Given the description of an element on the screen output the (x, y) to click on. 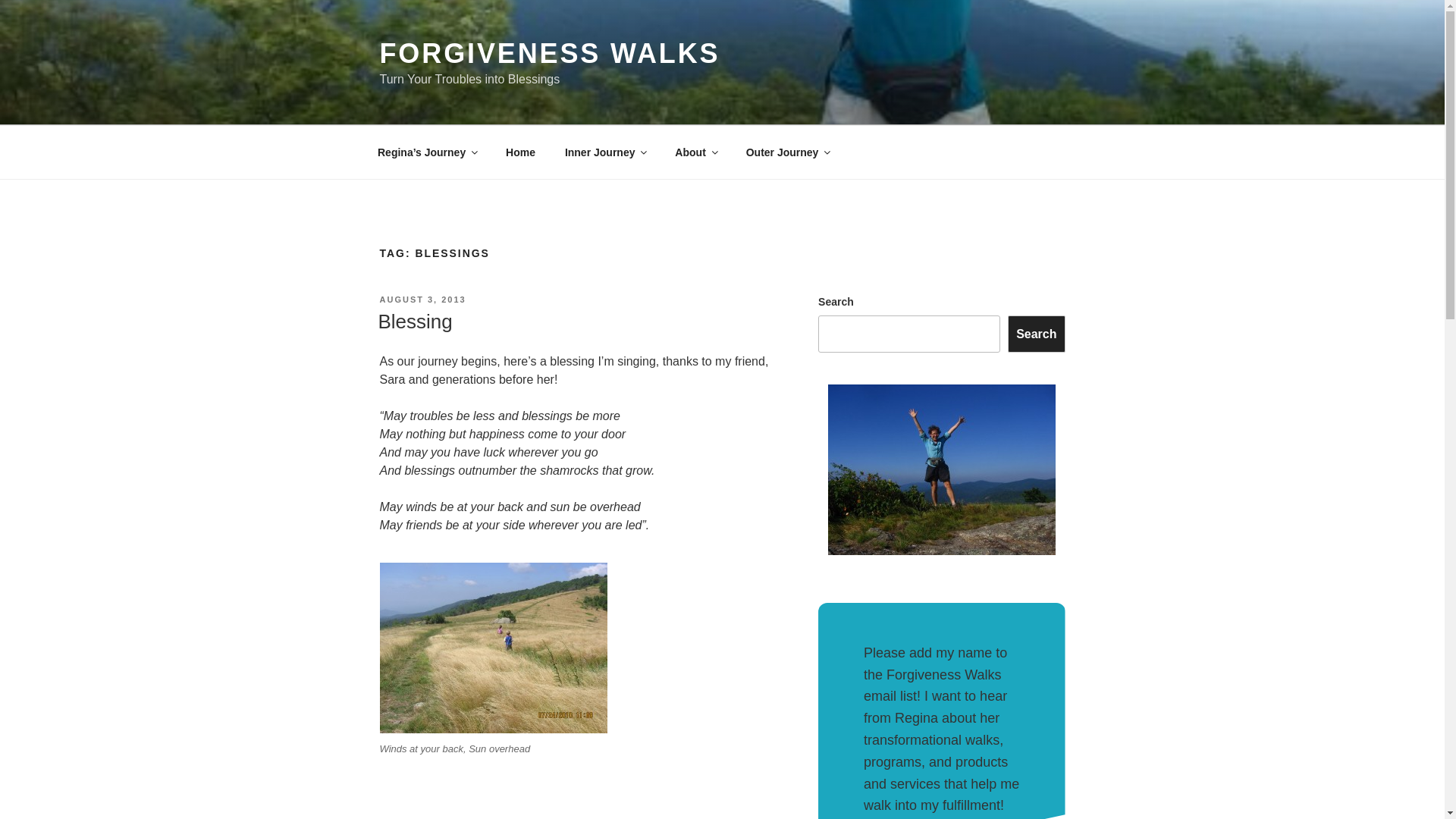
Home (520, 151)
Blessing (414, 321)
Inner Journey (605, 151)
Outer Journey (787, 151)
FORGIVENESS WALKS (548, 52)
AUGUST 3, 2013 (421, 298)
About (695, 151)
